Given the description of an element on the screen output the (x, y) to click on. 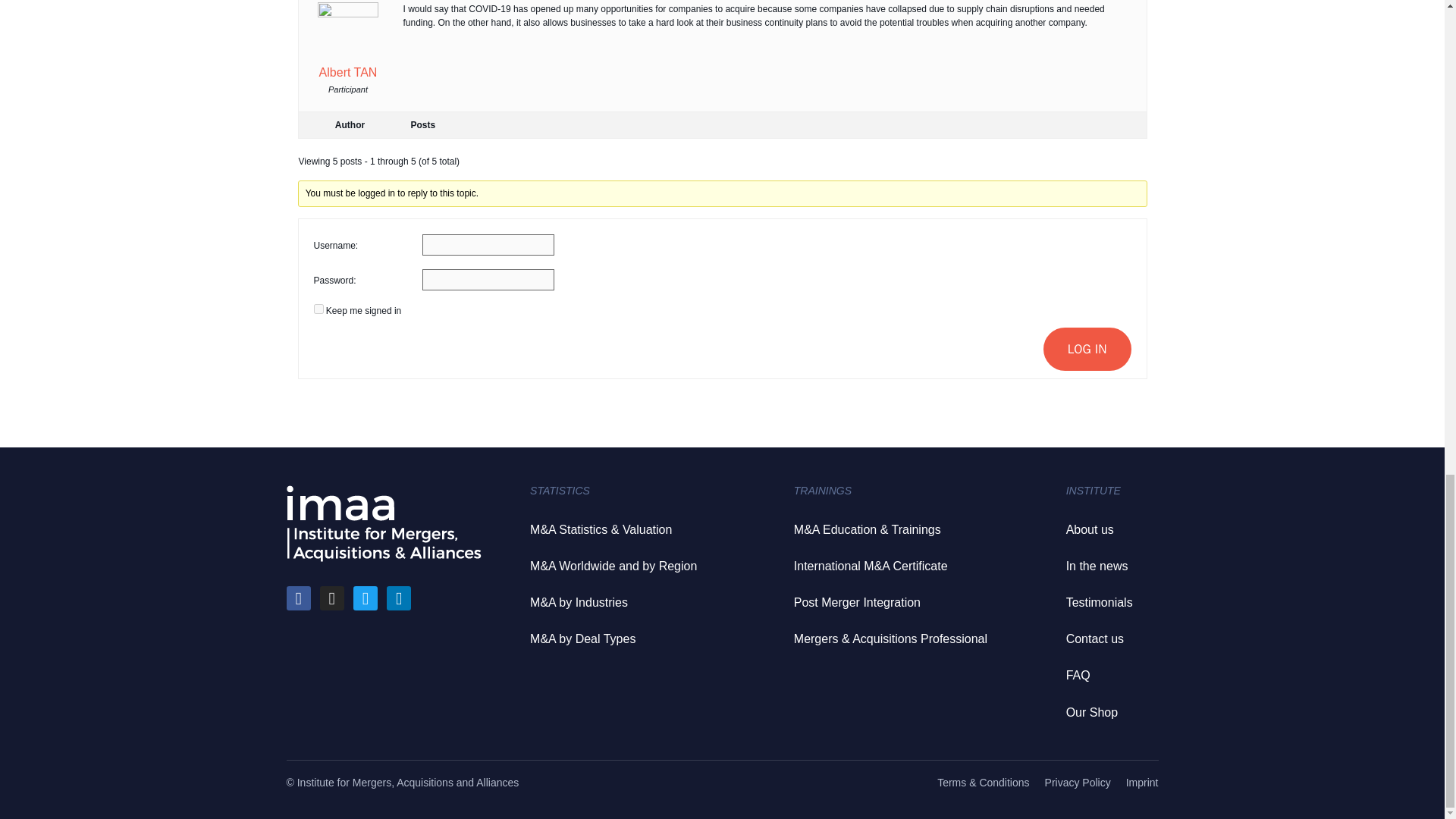
View Albert TAN's profile (347, 44)
forever (318, 308)
